Given the description of an element on the screen output the (x, y) to click on. 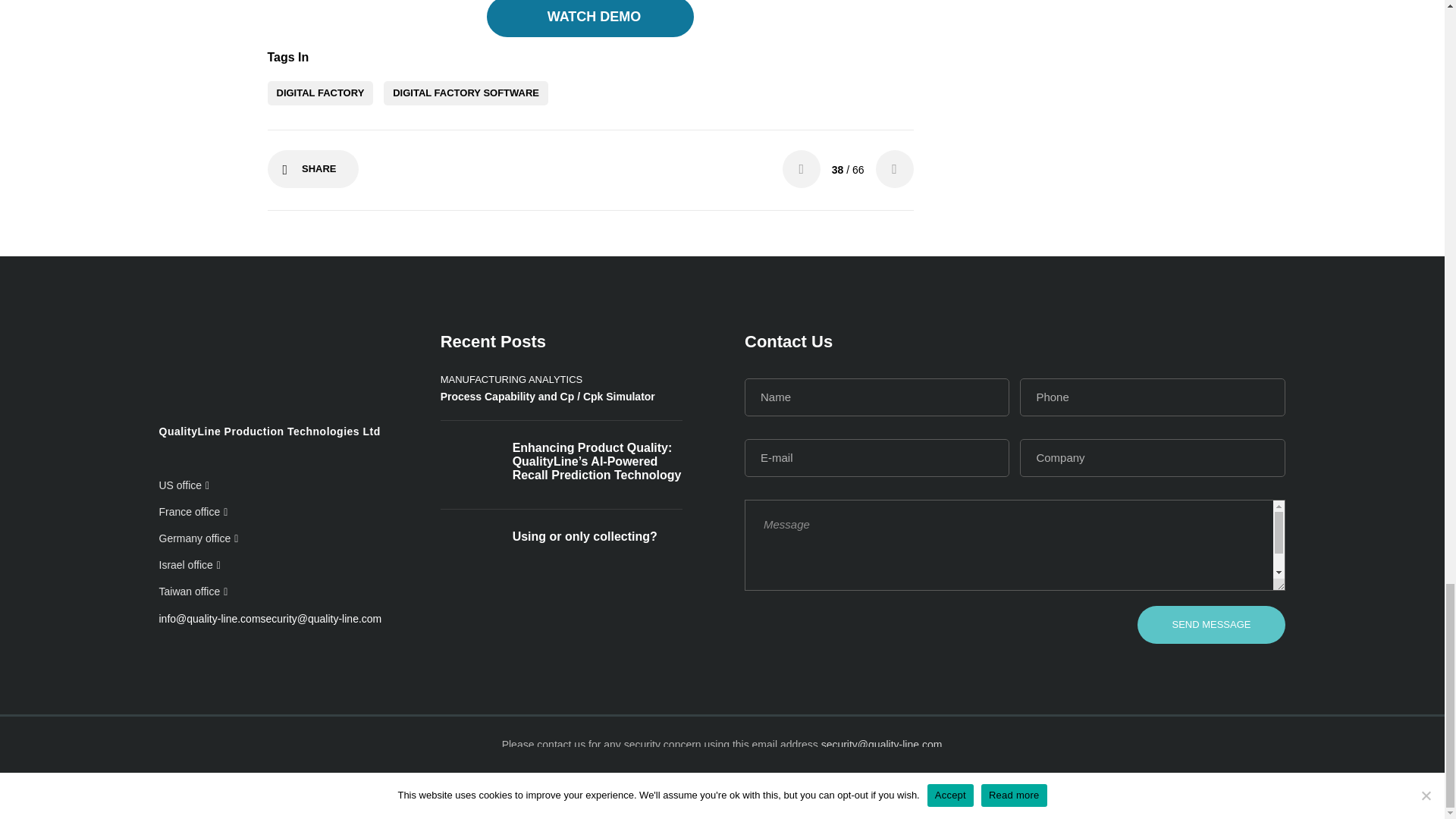
Send Message (1210, 624)
